Given the description of an element on the screen output the (x, y) to click on. 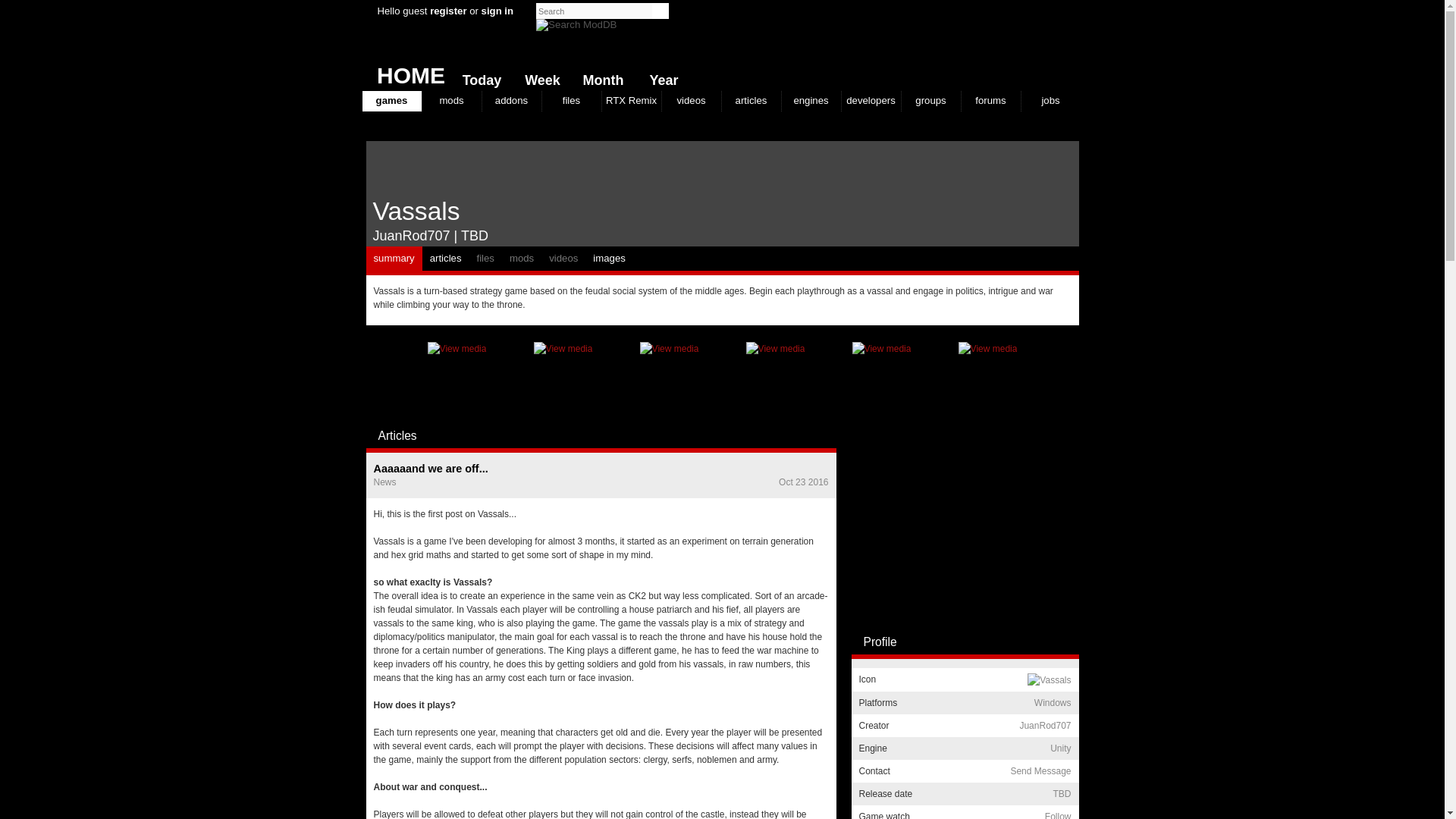
register (447, 10)
Image 6 (775, 376)
New this week (539, 76)
Month (599, 76)
addons (511, 100)
Today (478, 76)
Year (660, 76)
RTX Remix (631, 100)
Search ModDB (576, 24)
HOME (405, 71)
